Given the description of an element on the screen output the (x, y) to click on. 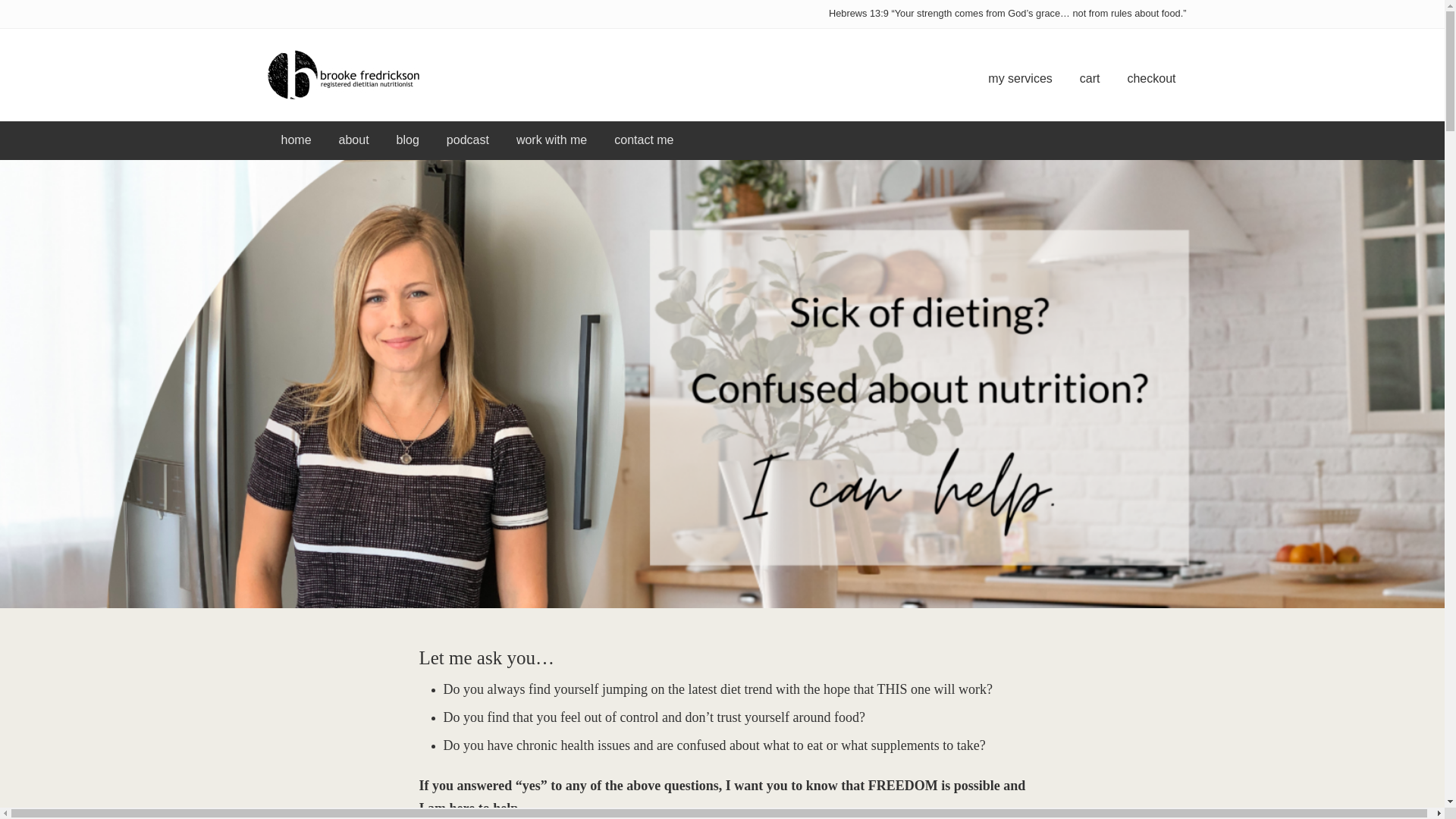
cart (1089, 78)
podcast (467, 139)
home (295, 139)
contact me (643, 139)
about (353, 139)
my services (1019, 78)
checkout (1151, 78)
work with me (550, 139)
blog (407, 139)
